Given the description of an element on the screen output the (x, y) to click on. 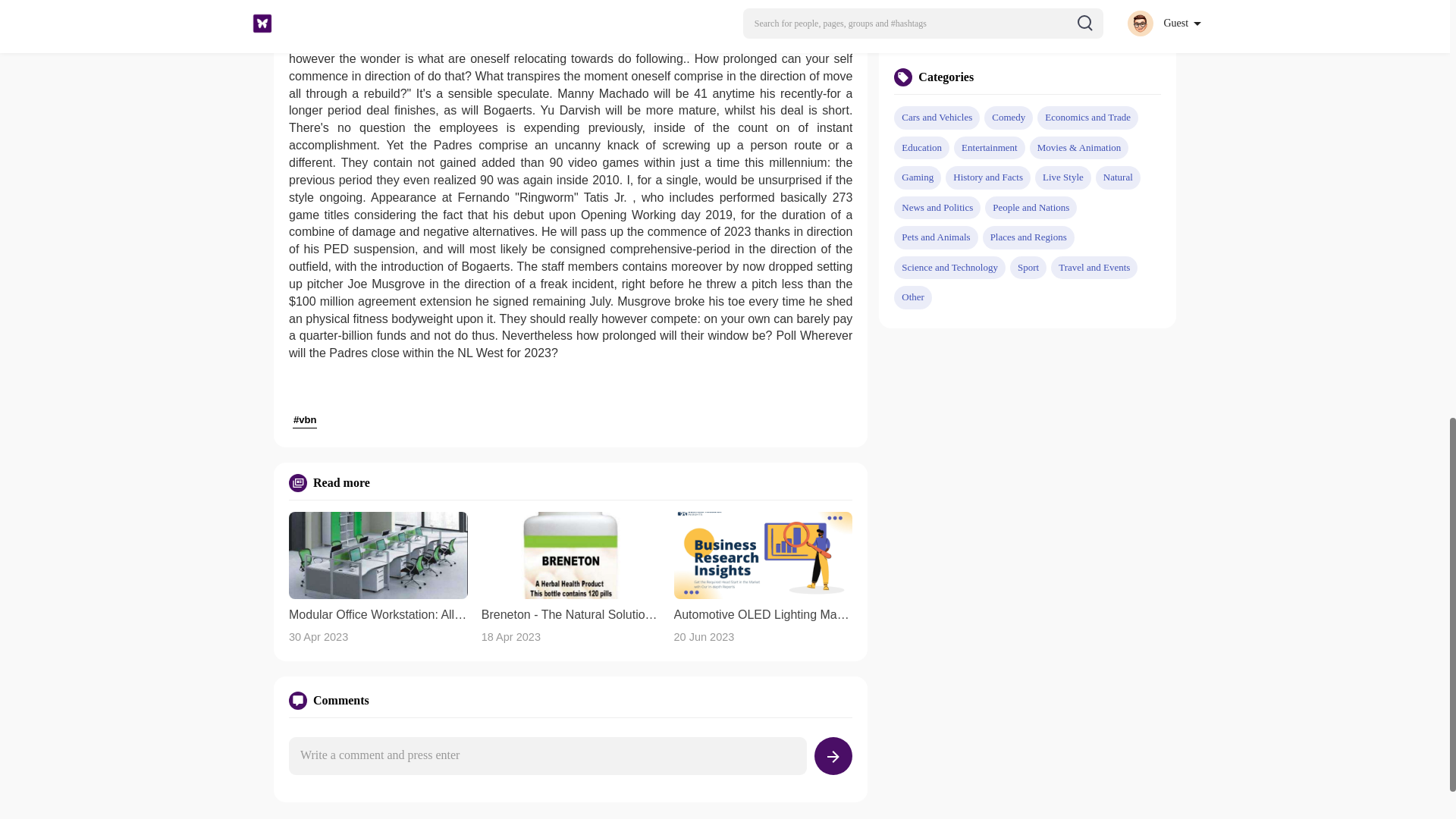
gf nyt (984, 37)
Breneton - The Natural Solution for Burning Mouth Syndrome (571, 614)
